Given the description of an element on the screen output the (x, y) to click on. 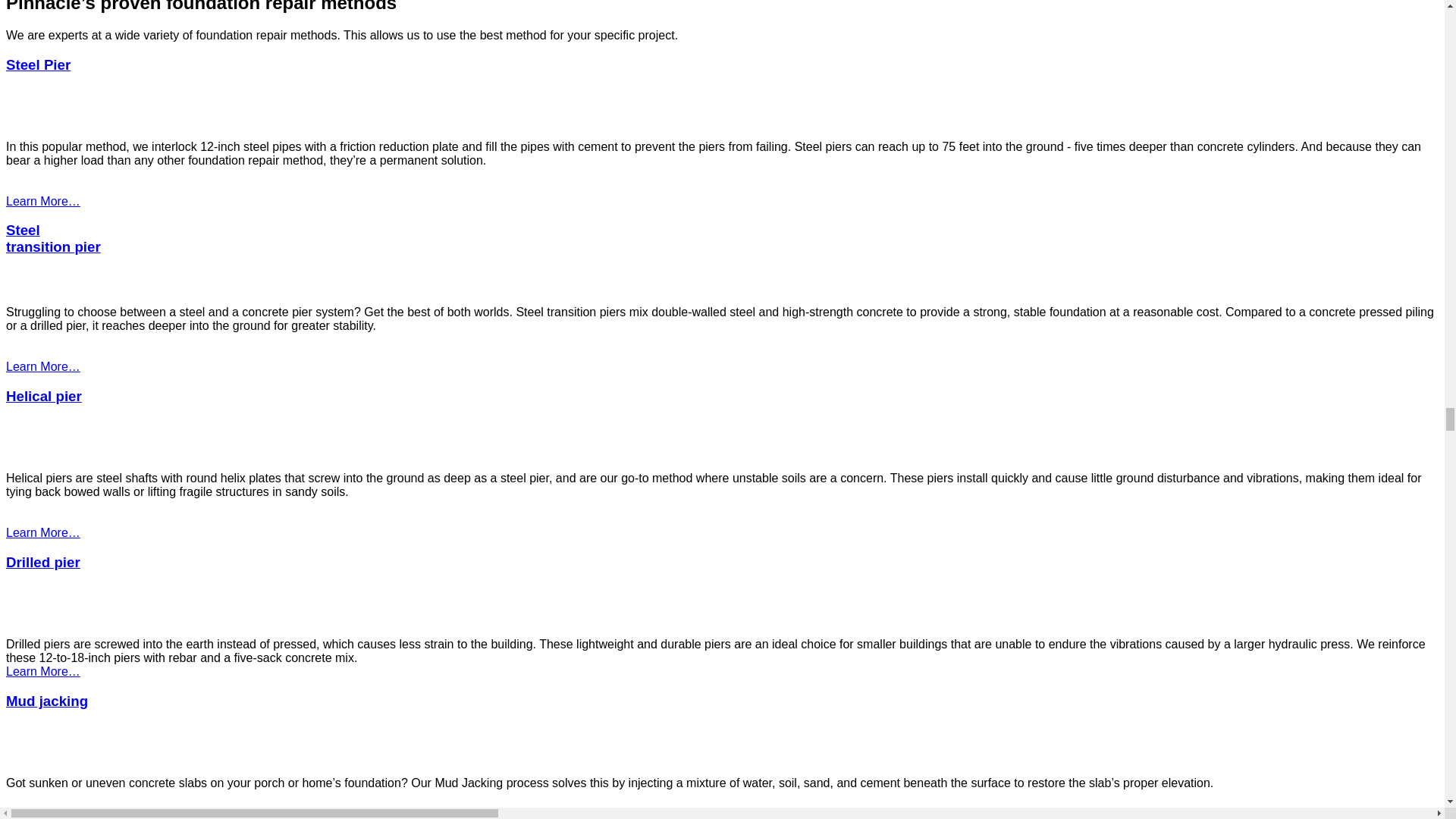
Helical pier (43, 396)
Steel Pier (37, 64)
Drilled pier (42, 562)
